Given the description of an element on the screen output the (x, y) to click on. 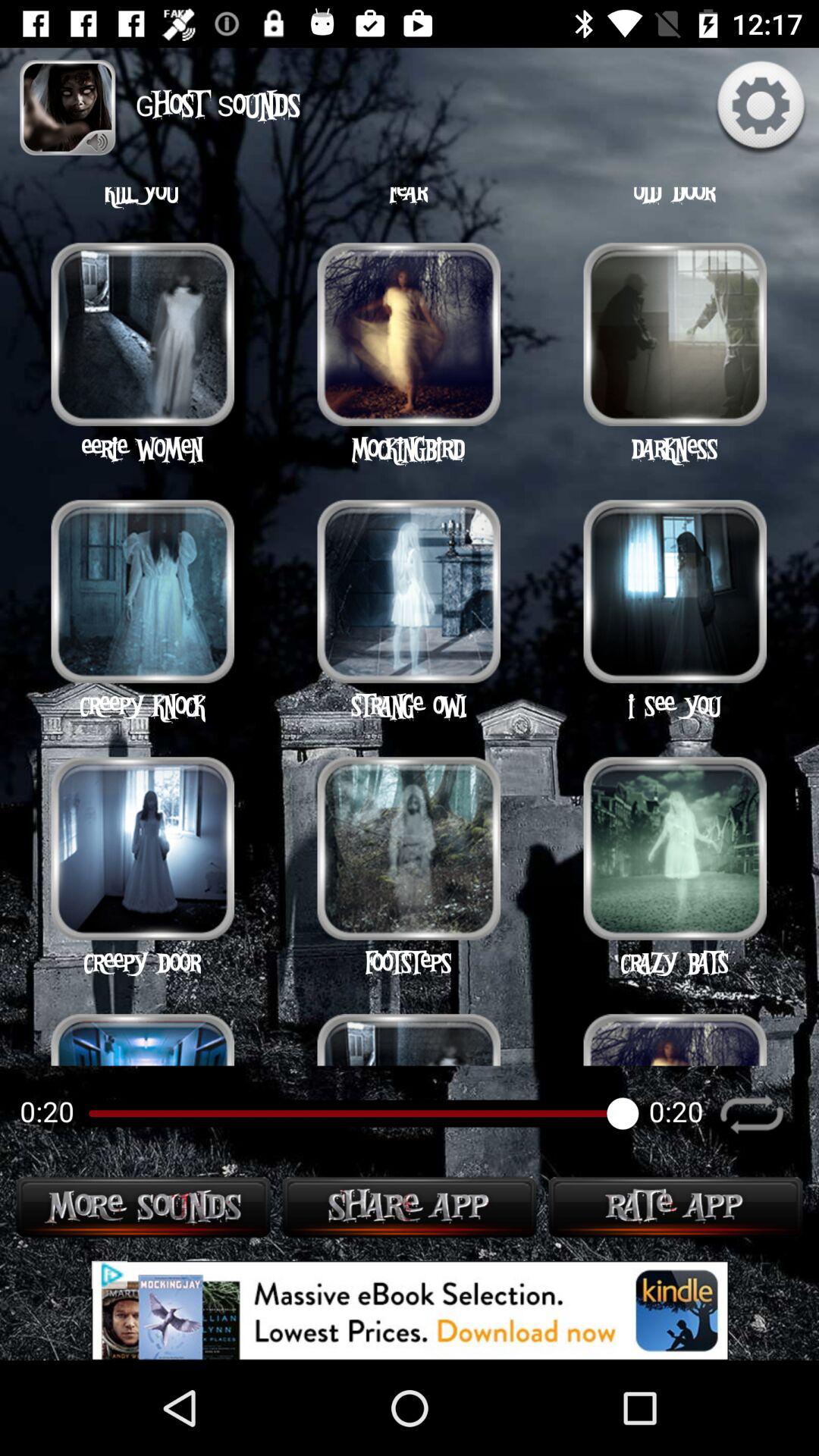
advertisement (409, 1310)
